Given the description of an element on the screen output the (x, y) to click on. 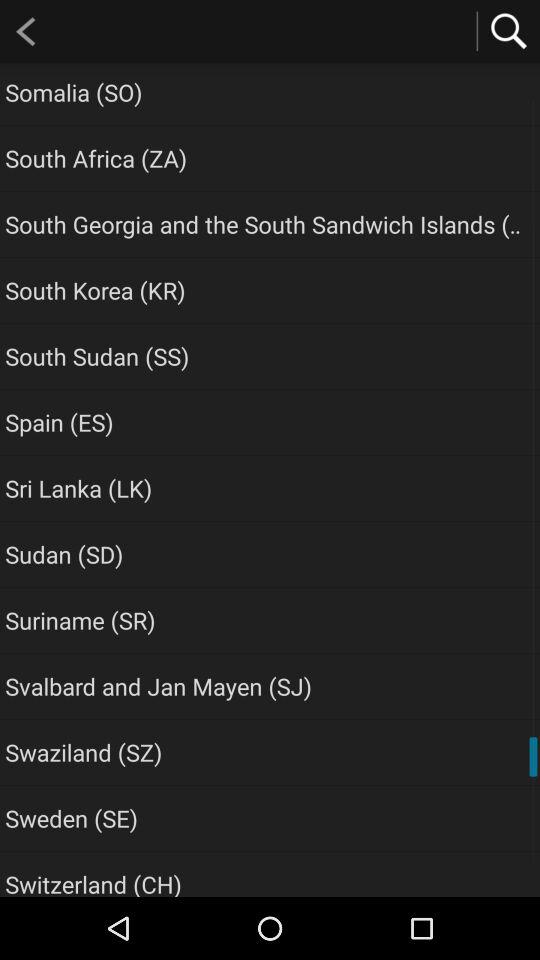
jump to switzerland (ch) app (93, 882)
